Given the description of an element on the screen output the (x, y) to click on. 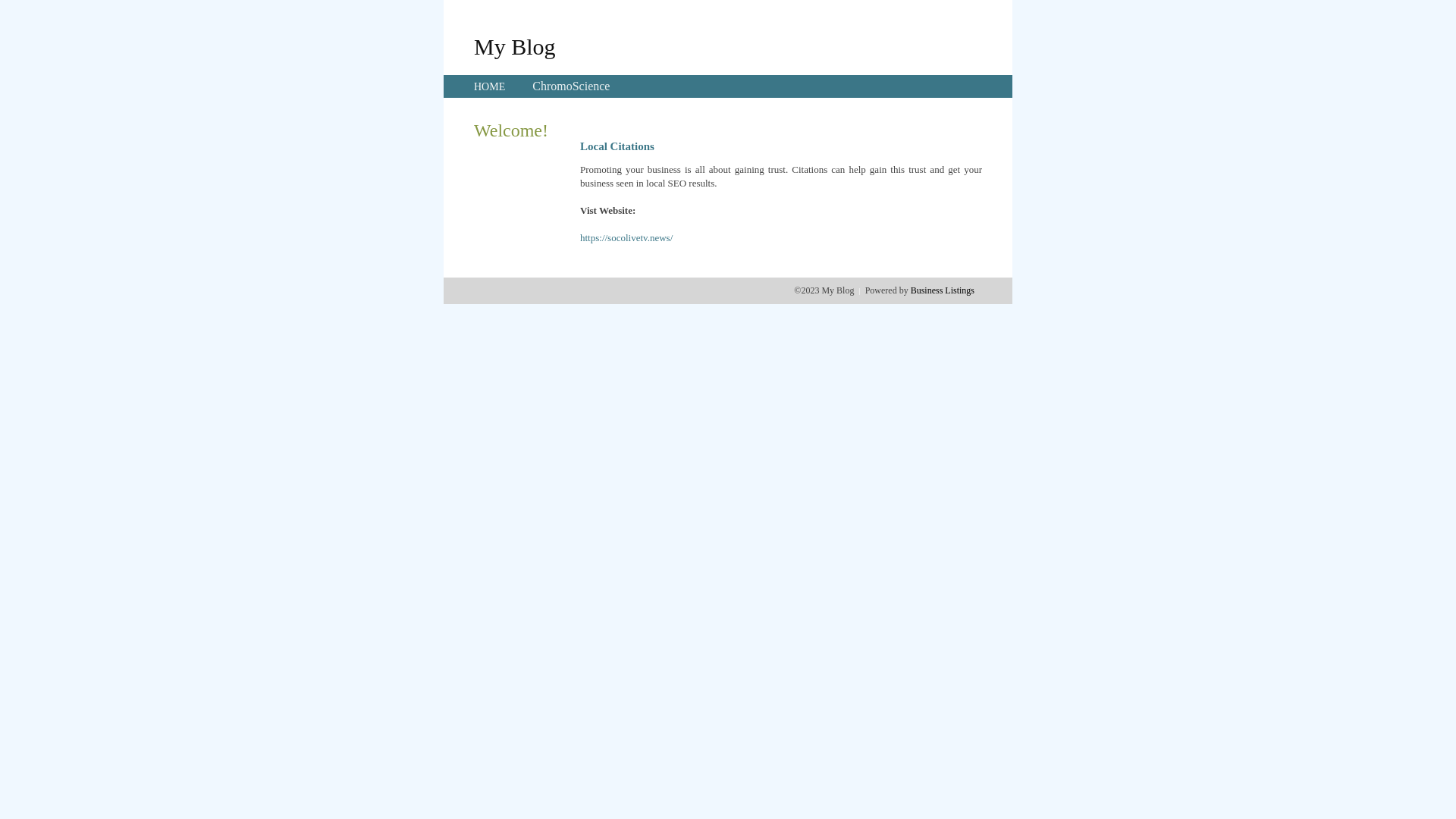
https://socolivetv.news/ Element type: text (626, 237)
HOME Element type: text (489, 86)
Business Listings Element type: text (942, 290)
ChromoScience Element type: text (570, 85)
My Blog Element type: text (514, 46)
